Given the description of an element on the screen output the (x, y) to click on. 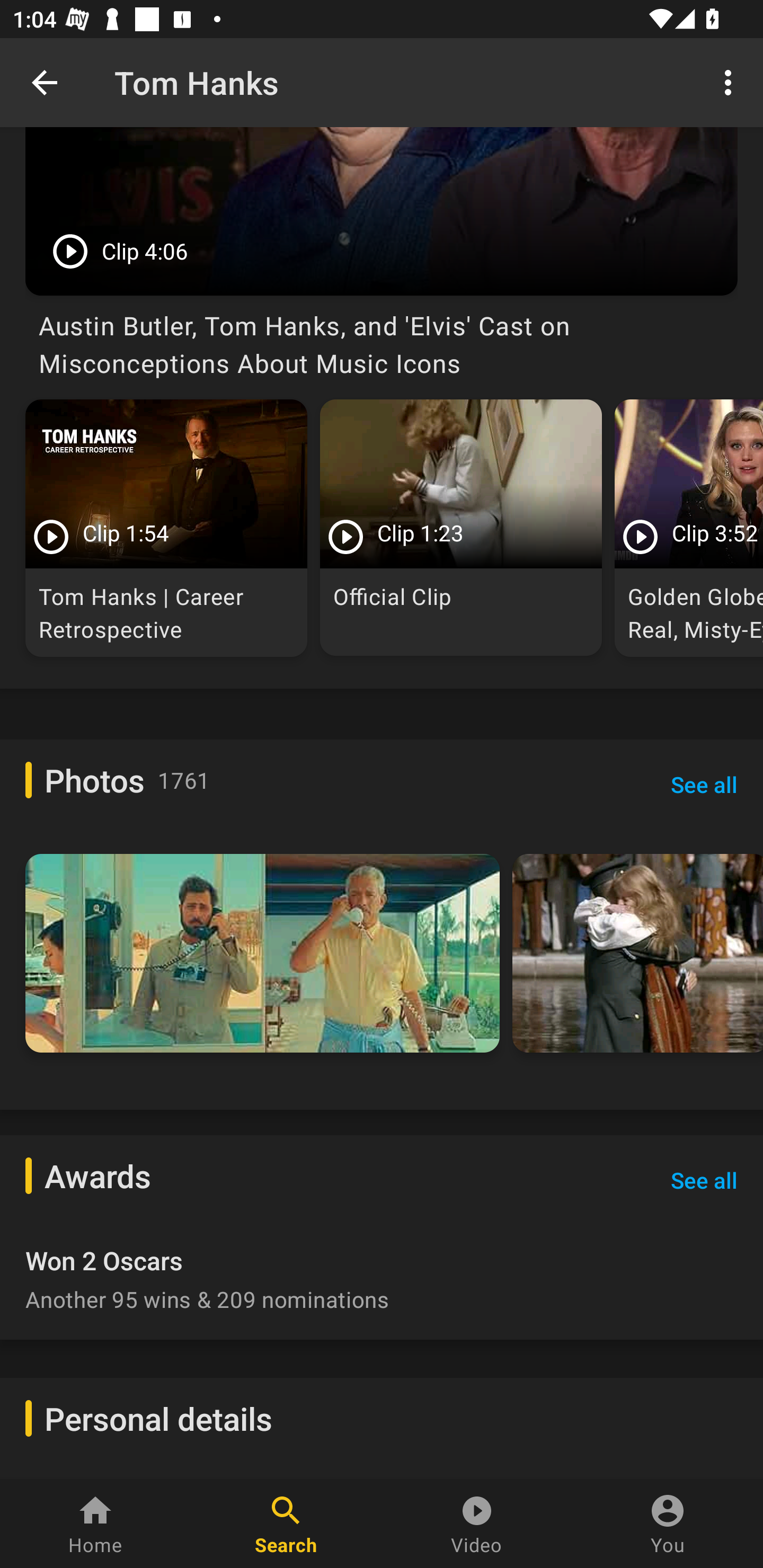
More options (731, 81)
Clip 1:54 Tom Hanks | Career Retrospective (166, 527)
Clip 1:23 Official Clip (460, 527)
See all See all Photos (703, 784)
See all See all Awards (703, 1179)
Won 2 Oscars Another 95 wins & 209 nominations (381, 1271)
Home (95, 1523)
Video (476, 1523)
You (667, 1523)
